Given the description of an element on the screen output the (x, y) to click on. 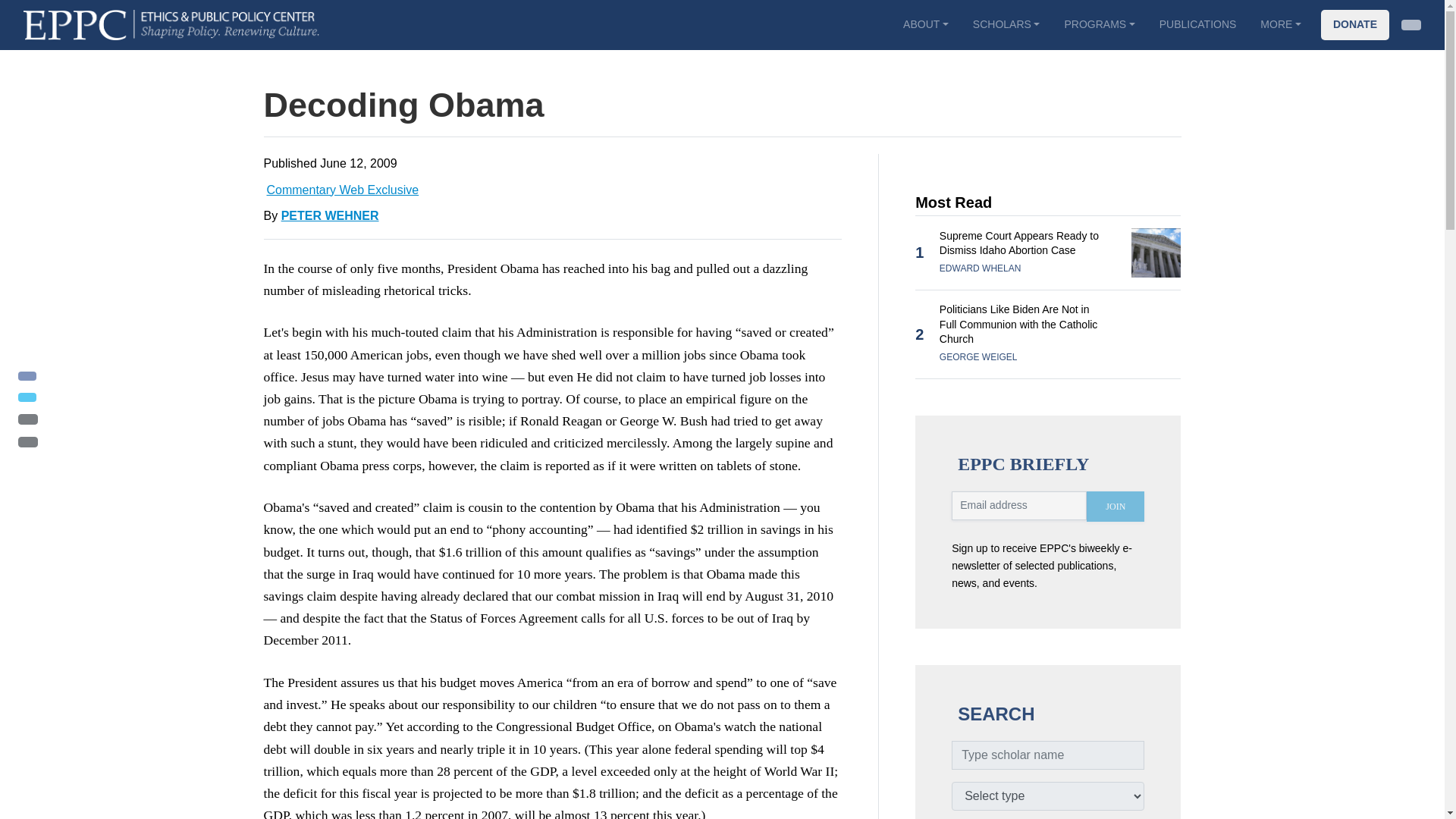
SCHOLARS (1006, 24)
ABOUT (925, 24)
JOIN (1115, 506)
